Given the description of an element on the screen output the (x, y) to click on. 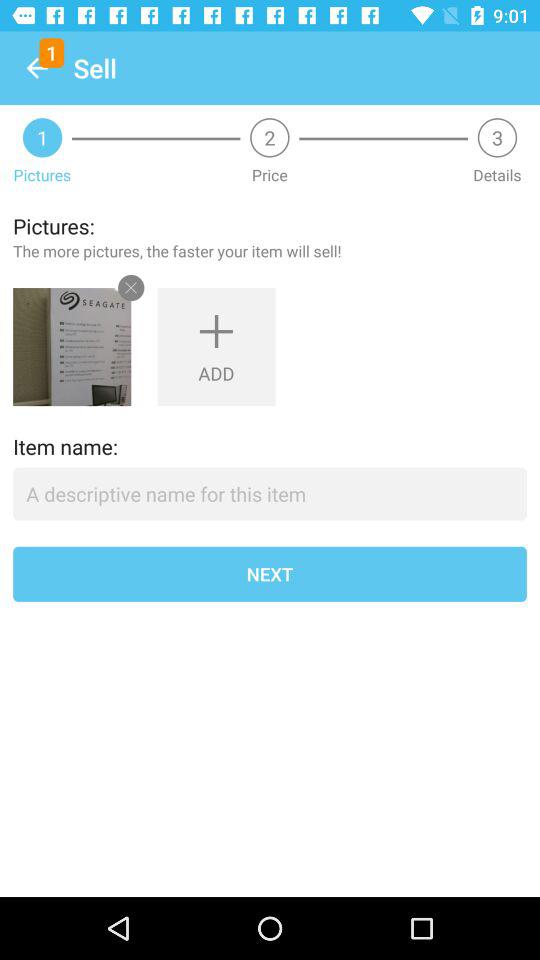
click the close icon in the first image (131, 287)
